Given the description of an element on the screen output the (x, y) to click on. 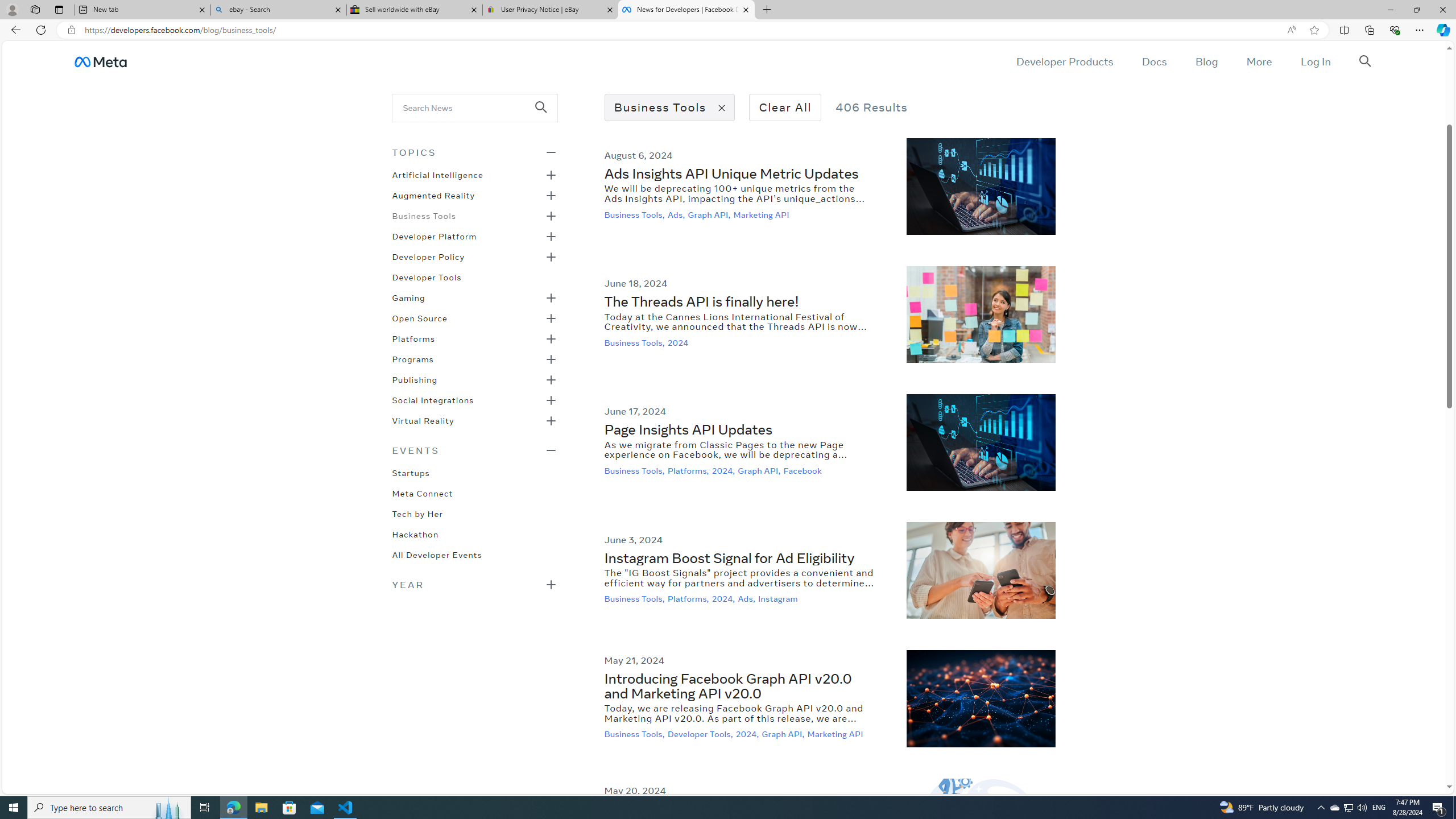
Graph API, (784, 733)
Class: _9890 _98ey (474, 450)
Blog (1205, 61)
Virtual Reality (422, 419)
Developer Tools, (700, 733)
Log In (1315, 61)
